Given the description of an element on the screen output the (x, y) to click on. 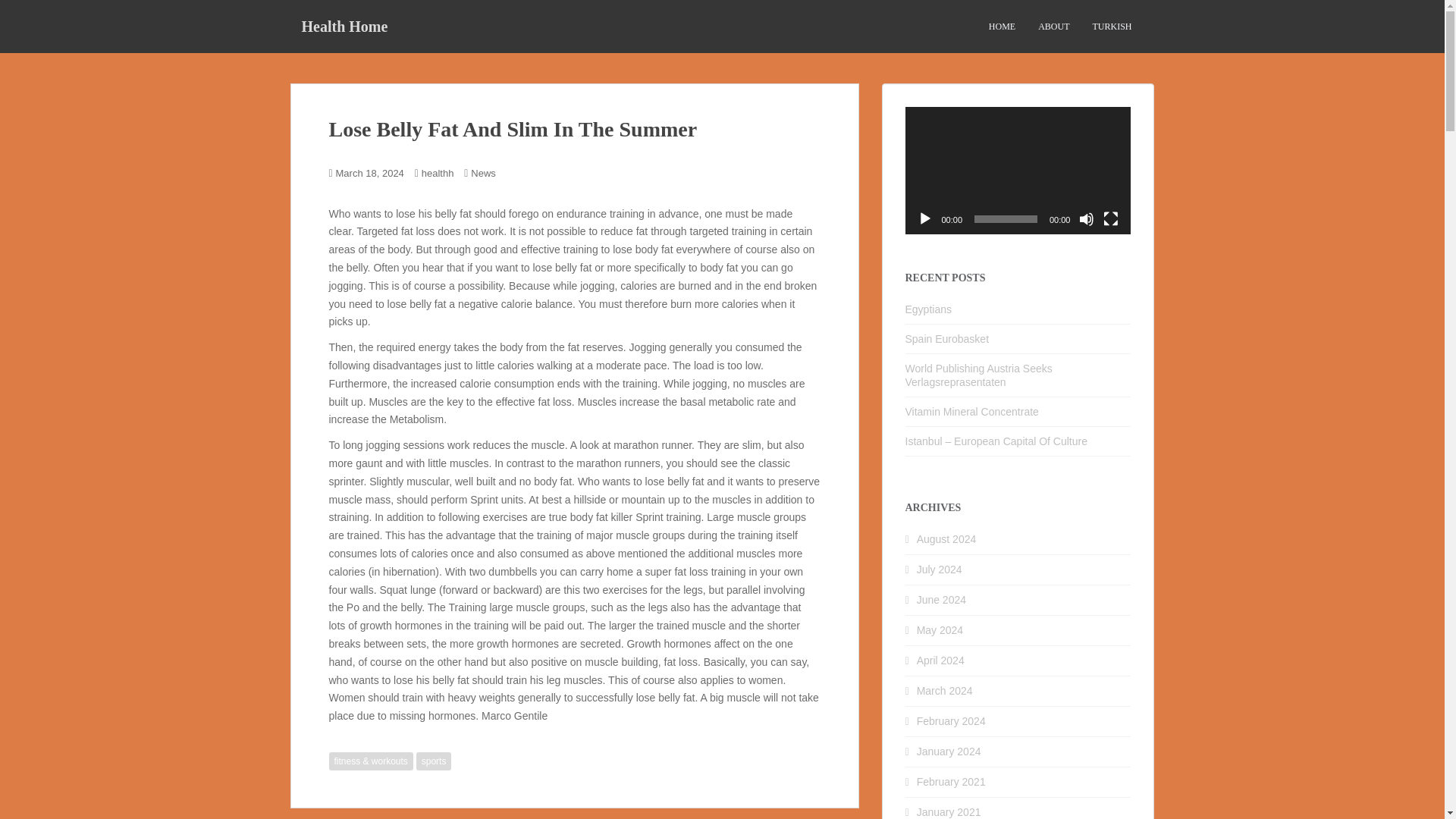
August 2024 (946, 539)
News (483, 173)
May 2024 (939, 630)
Spain Eurobasket (947, 338)
March 18, 2024 (370, 173)
June 2024 (941, 599)
healthh (438, 173)
Vitamin Mineral Concentrate (972, 411)
sports (433, 761)
February 2024 (951, 720)
